Given the description of an element on the screen output the (x, y) to click on. 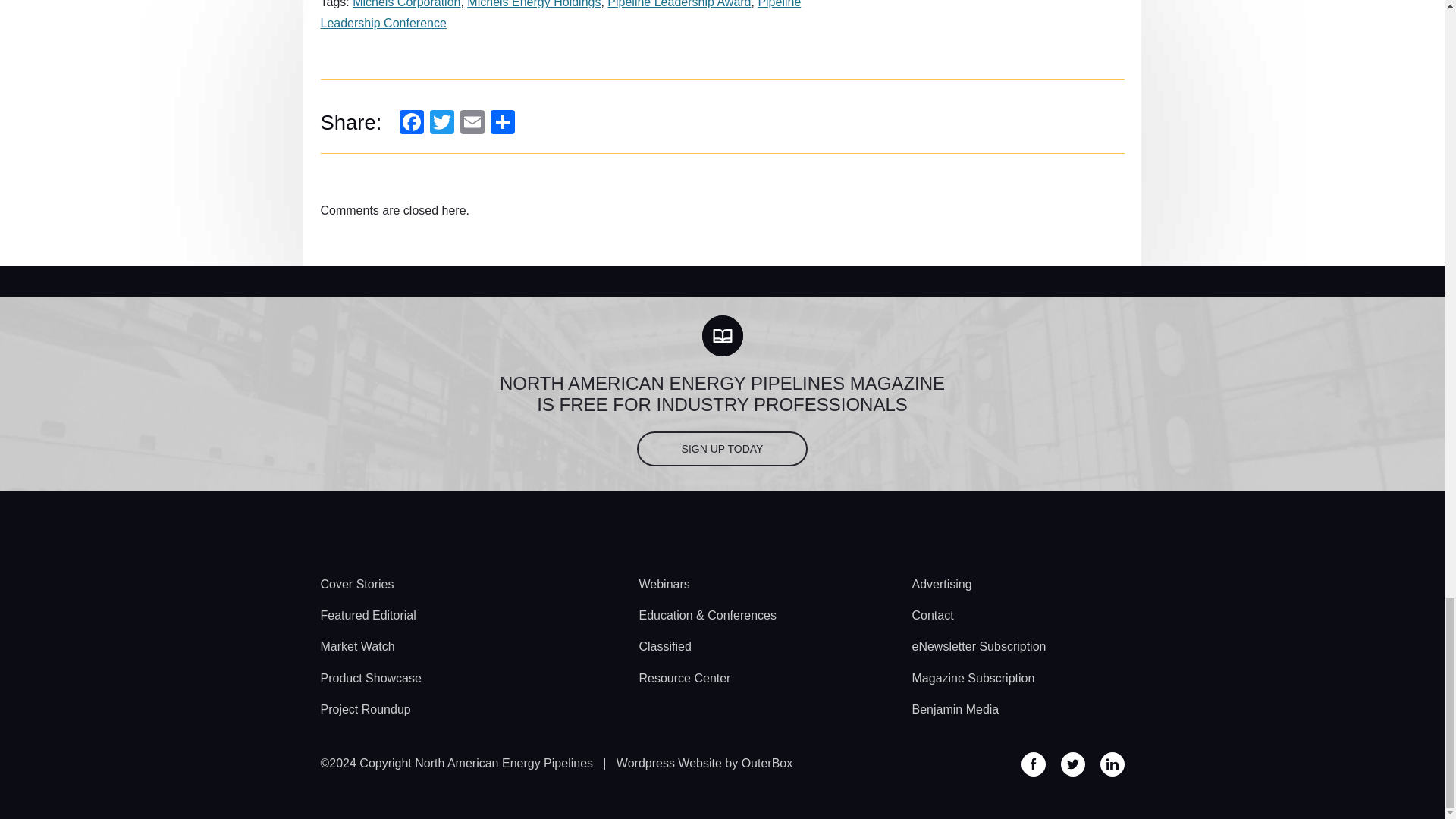
Pipeline Leadership Conference (560, 14)
Twitter (441, 121)
Facebook (411, 121)
Michels Energy Holdings (533, 4)
Facebook (411, 121)
Michels Corporation (406, 4)
Pipeline Leadership Award (679, 4)
Outerbox (703, 762)
Email (472, 121)
